Given the description of an element on the screen output the (x, y) to click on. 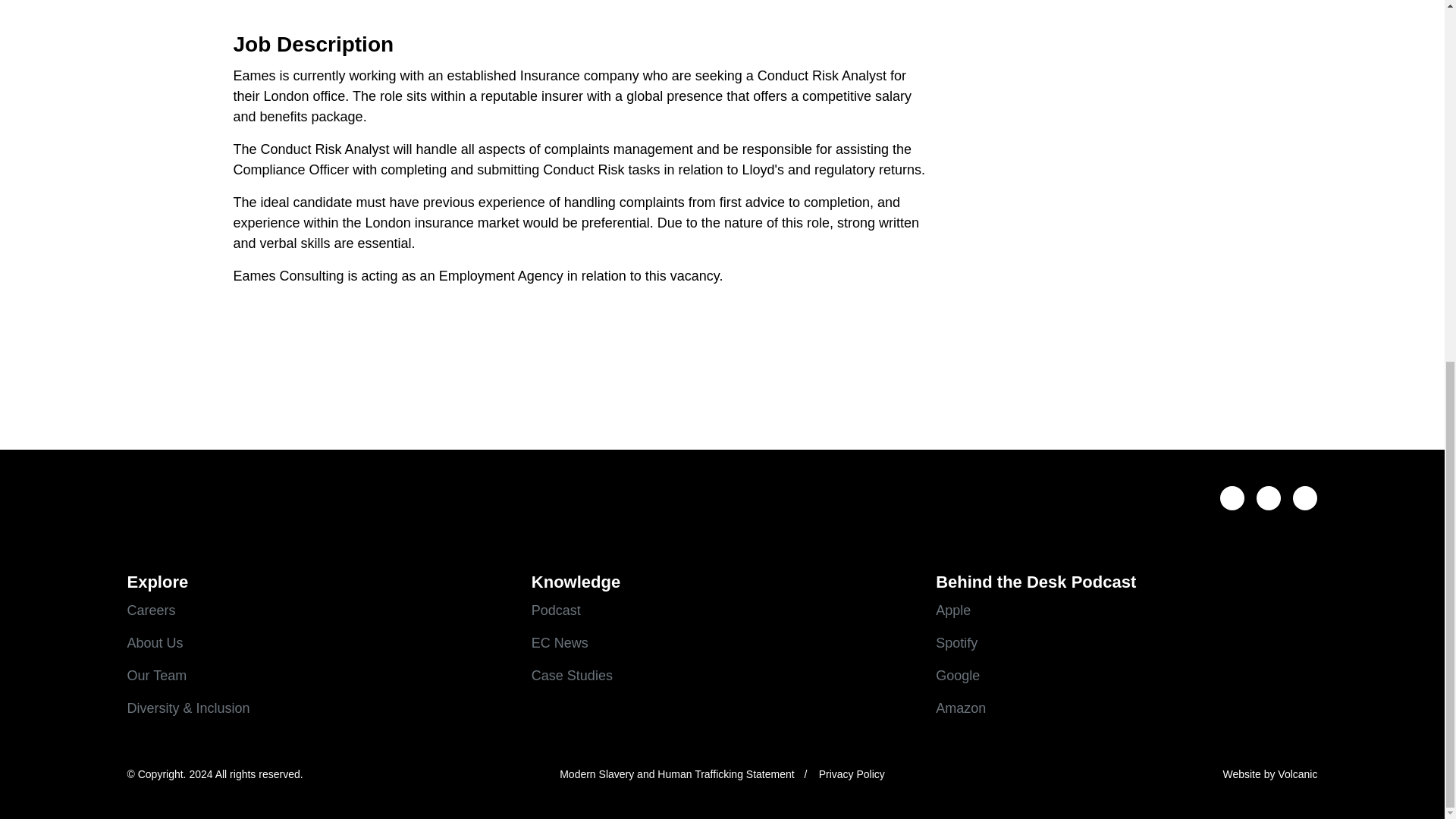
About Us (318, 643)
Apple (1126, 610)
Amazon (1126, 708)
Spotify (1126, 643)
Our Team (318, 675)
Careers (318, 610)
EC News (721, 643)
Podcast (721, 610)
Case Studies (721, 675)
Google (1126, 675)
